Given the description of an element on the screen output the (x, y) to click on. 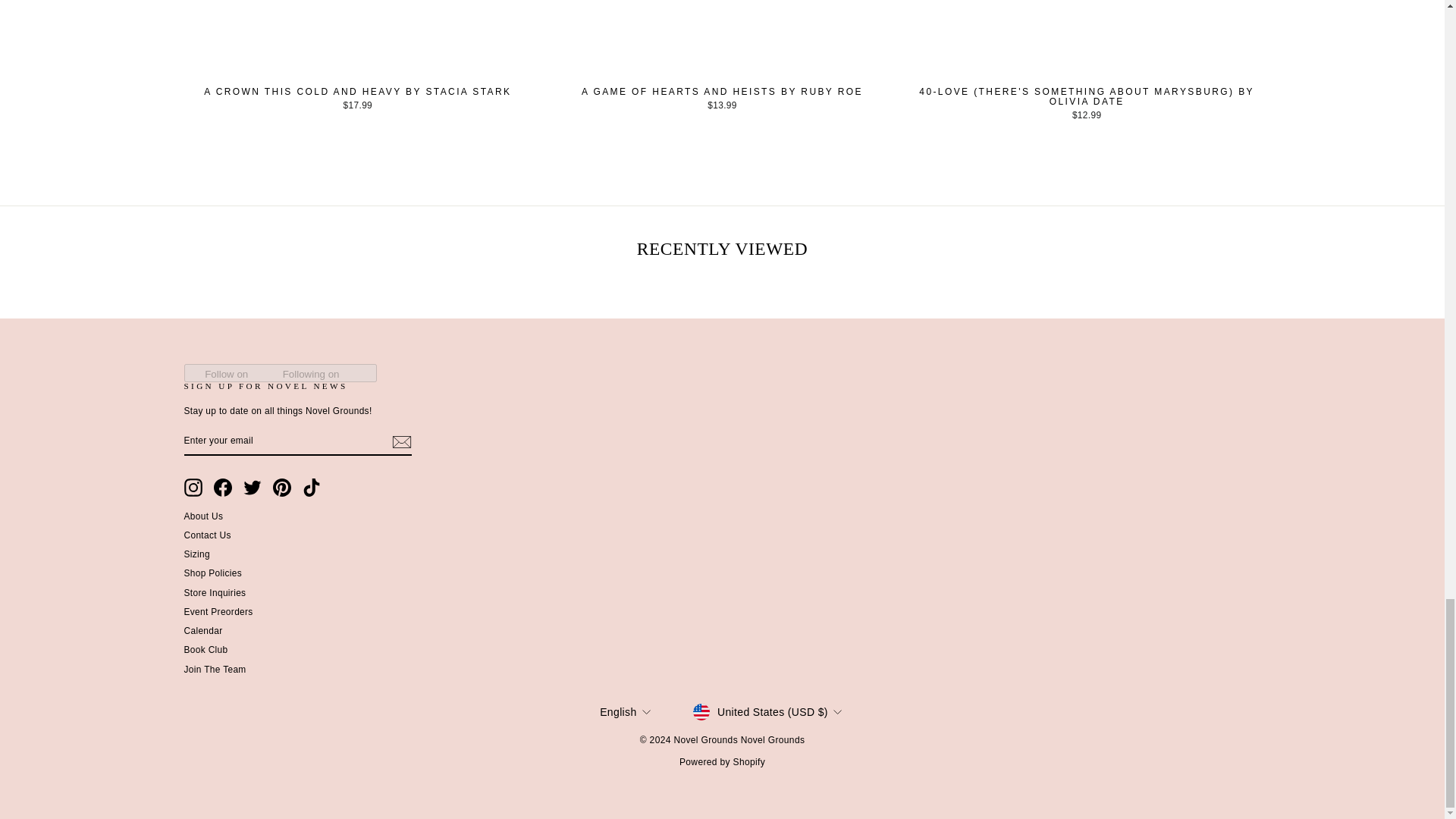
Novel Grounds on Twitter (251, 487)
Novel Grounds on Instagram (192, 487)
Novel Grounds on Pinterest (282, 487)
Novel Grounds on Facebook (222, 487)
